Given the description of an element on the screen output the (x, y) to click on. 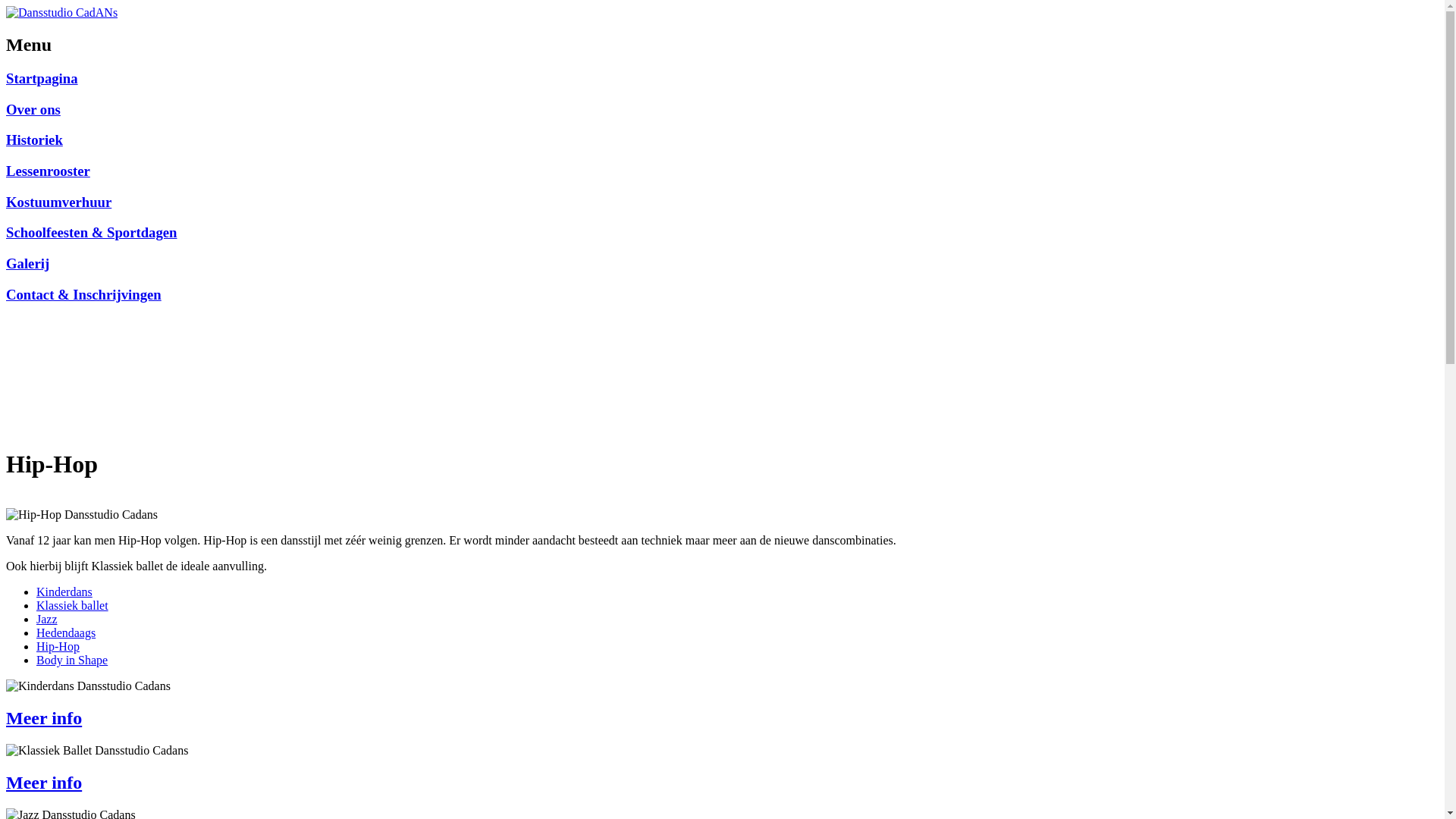
Meer info Element type: text (43, 782)
Schoolfeesten & Sportdagen Element type: text (91, 232)
Over ons Element type: text (33, 109)
Hip-Hop Element type: text (57, 646)
Kinderdans Element type: text (64, 591)
Dansstudio CadANs Element type: hover (61, 12)
Contact & Inschrijvingen Element type: text (83, 294)
Meer info Element type: text (43, 718)
Body in Shape Element type: text (71, 659)
Hedendaags Element type: text (65, 632)
Klassiek ballet Element type: text (72, 605)
Galerij Element type: text (27, 263)
Jazz Element type: text (46, 618)
Kostuumverhuur Element type: text (58, 202)
Startpagina Element type: text (42, 78)
Historiek Element type: text (34, 139)
Lessenrooster Element type: text (48, 170)
